Given the description of an element on the screen output the (x, y) to click on. 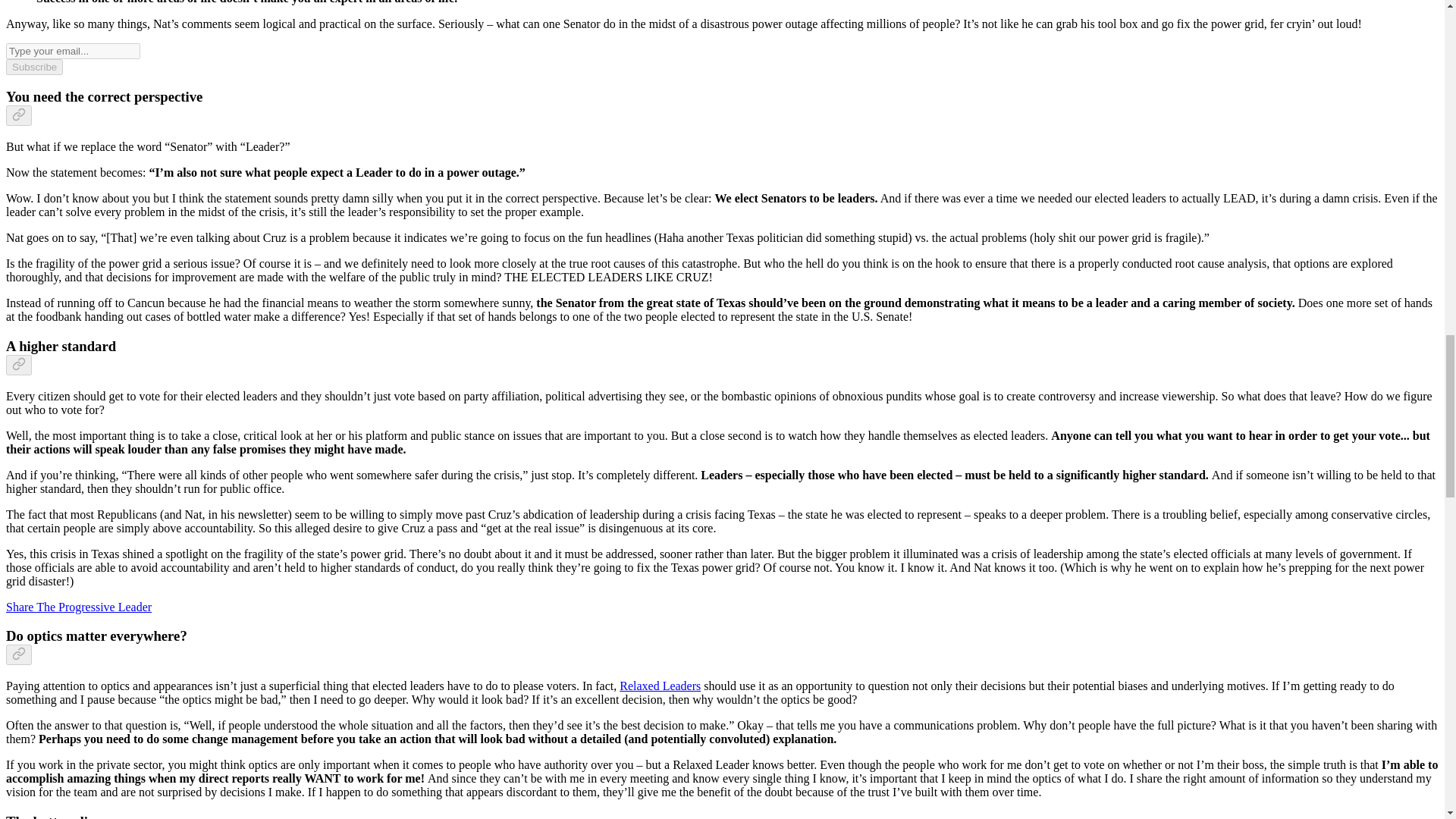
Share The Progressive Leader (78, 606)
Relaxed Leaders (660, 685)
Subscribe (33, 66)
